Given the description of an element on the screen output the (x, y) to click on. 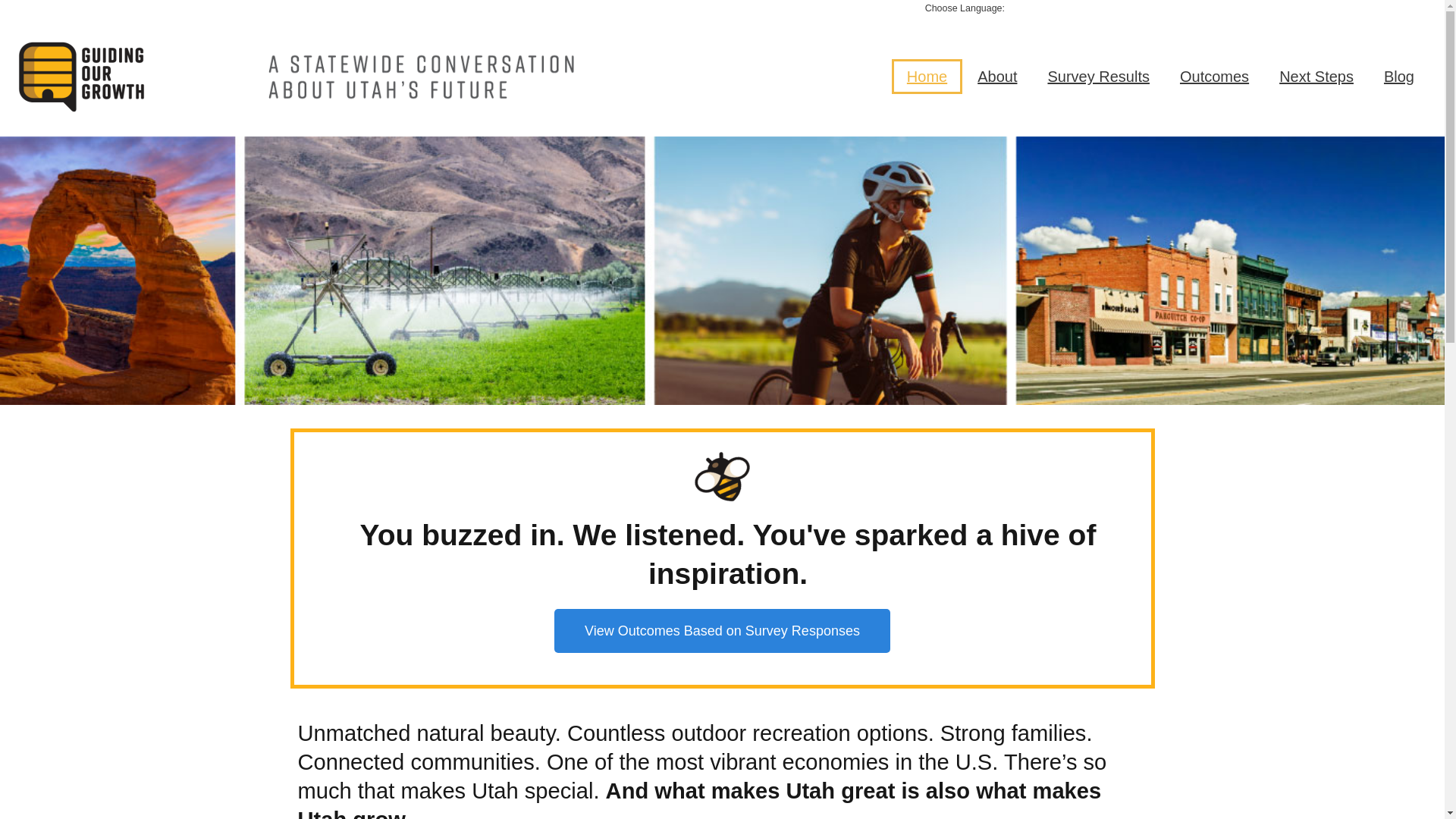
Home (926, 76)
Blog (1398, 76)
Survey Results (1098, 76)
Next Steps (1315, 76)
About (997, 76)
Outcomes (1213, 76)
View Outcomes Based on Survey Responses (721, 630)
